Given the description of an element on the screen output the (x, y) to click on. 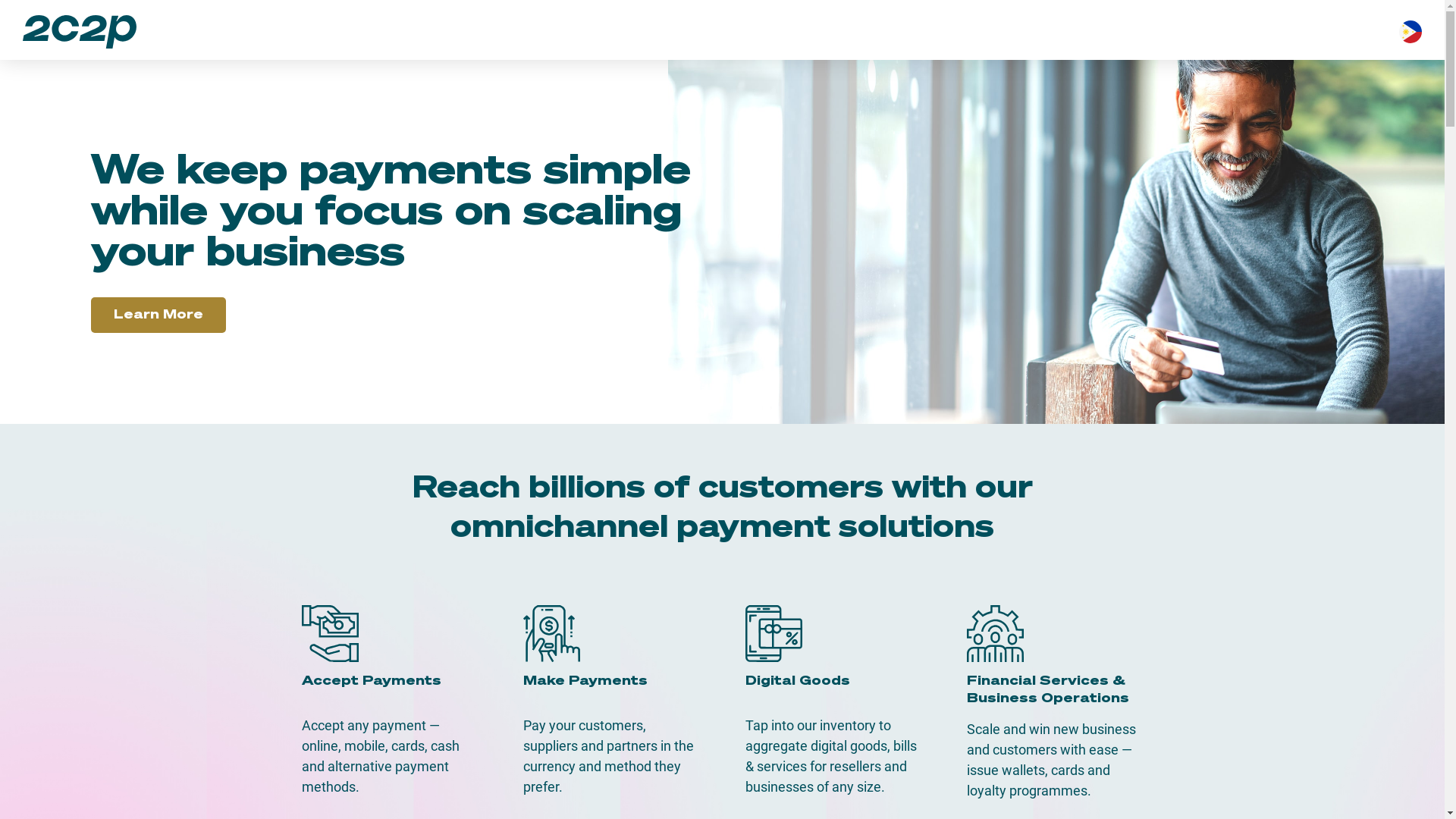
Learn More Element type: text (158, 314)
